Given the description of an element on the screen output the (x, y) to click on. 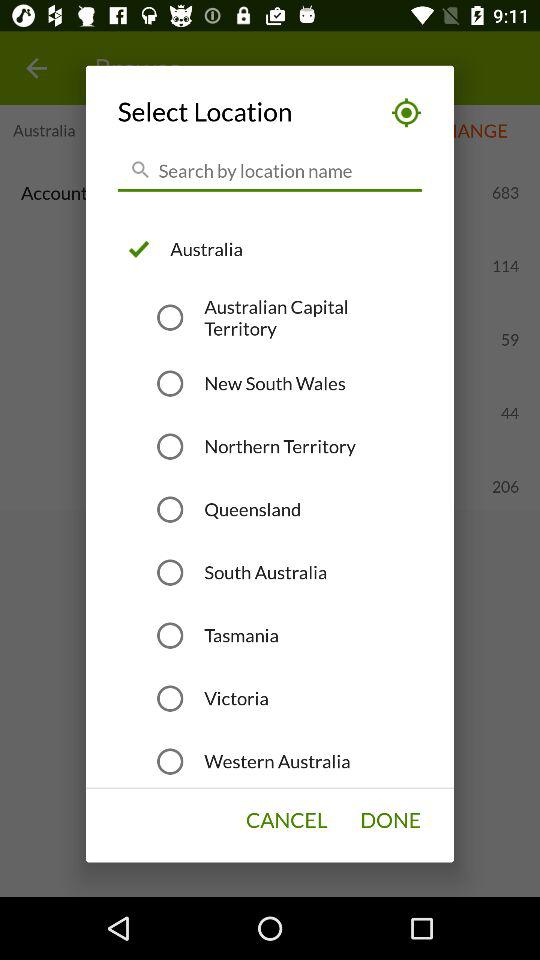
scroll to victoria icon (236, 698)
